Given the description of an element on the screen output the (x, y) to click on. 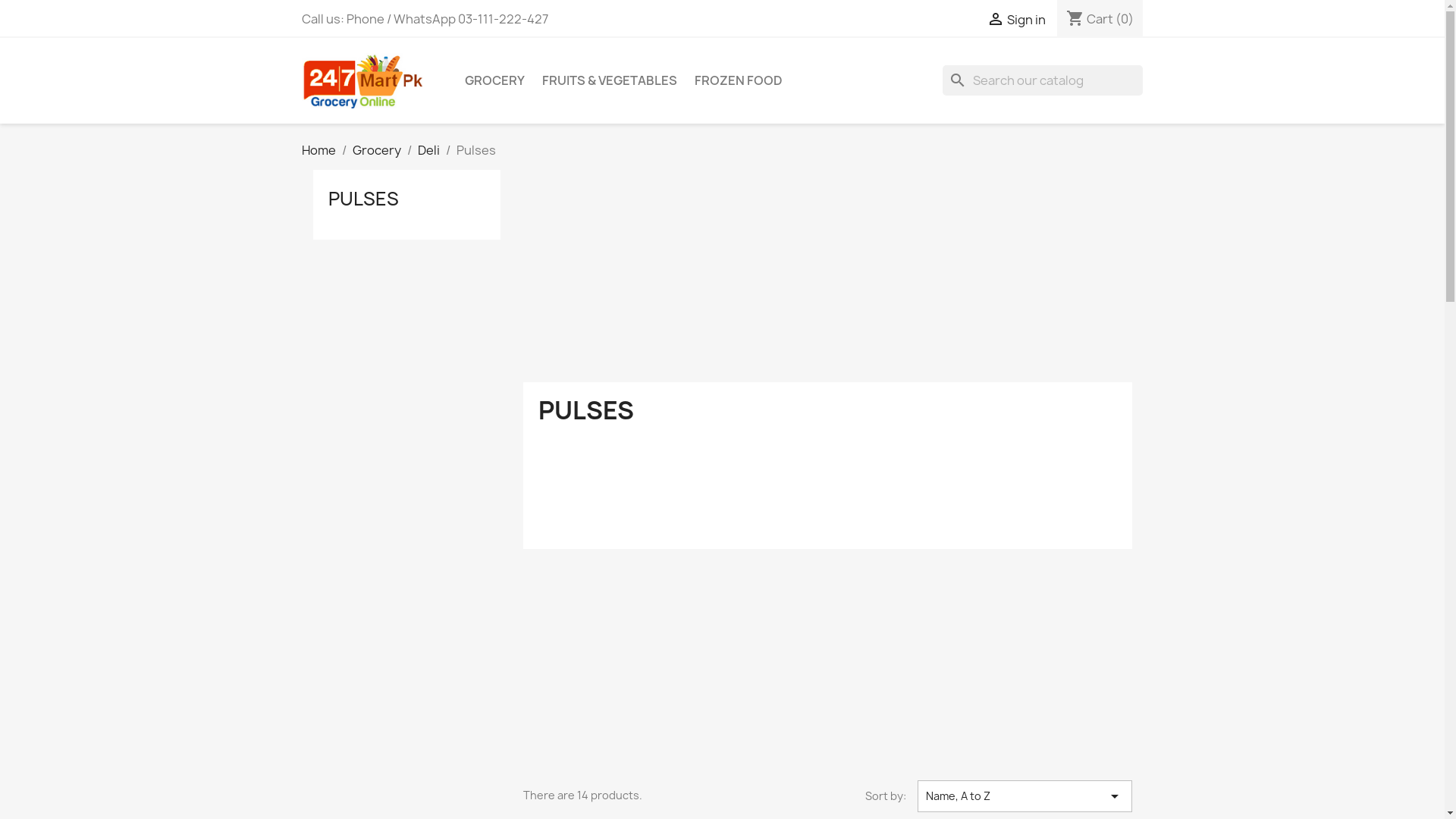
GROCERY Element type: text (493, 80)
Advertisement Element type: hover (827, 275)
Home Element type: text (318, 149)
Deli Element type: text (428, 149)
Grocery Element type: text (375, 149)
FRUITS & VEGETABLES Element type: text (608, 80)
PULSES Element type: text (362, 198)
FROZEN FOOD Element type: text (738, 80)
Advertisement Element type: hover (827, 673)
